Given the description of an element on the screen output the (x, y) to click on. 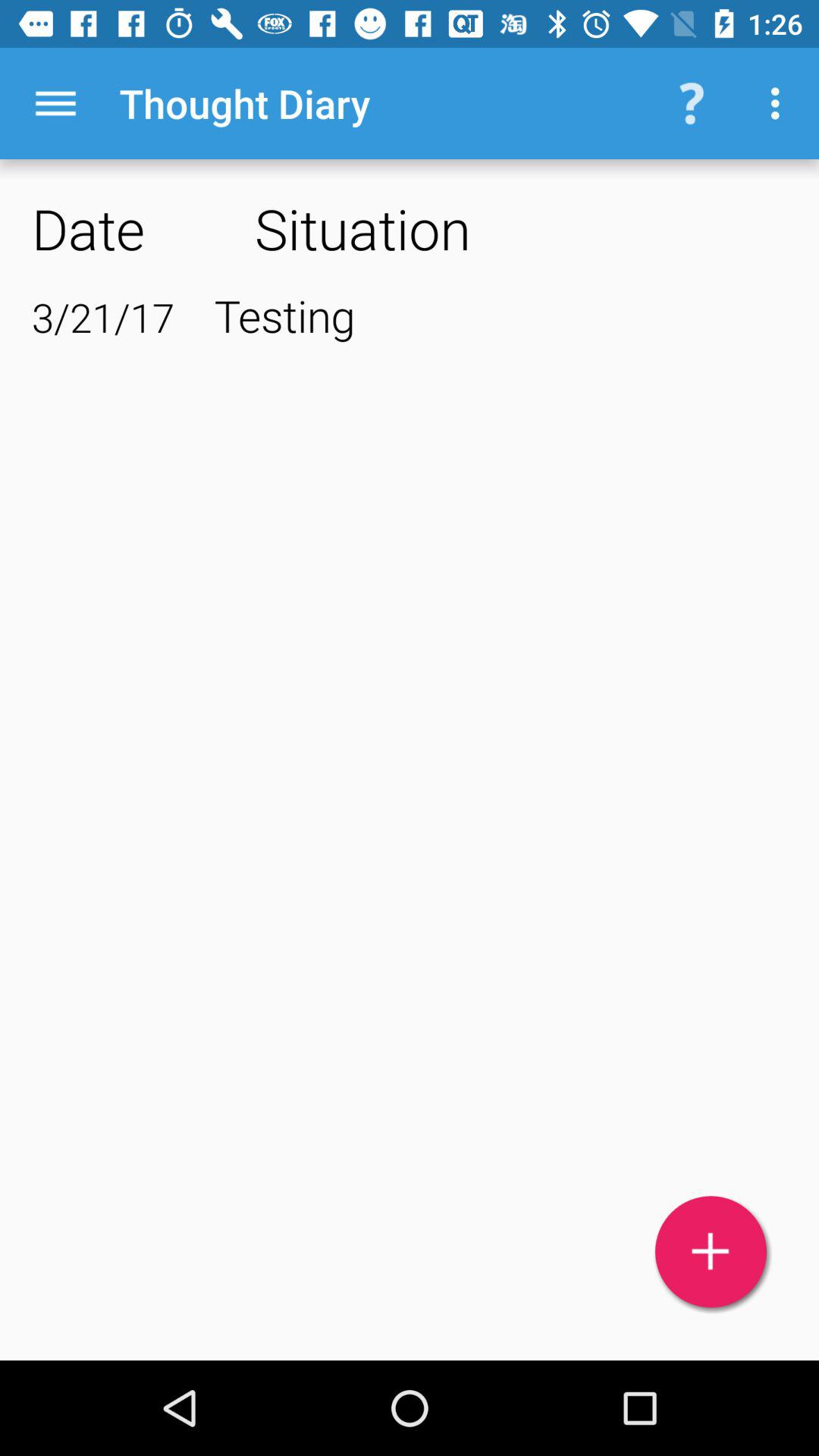
turn on icon to the left of thought diary (55, 103)
